Given the description of an element on the screen output the (x, y) to click on. 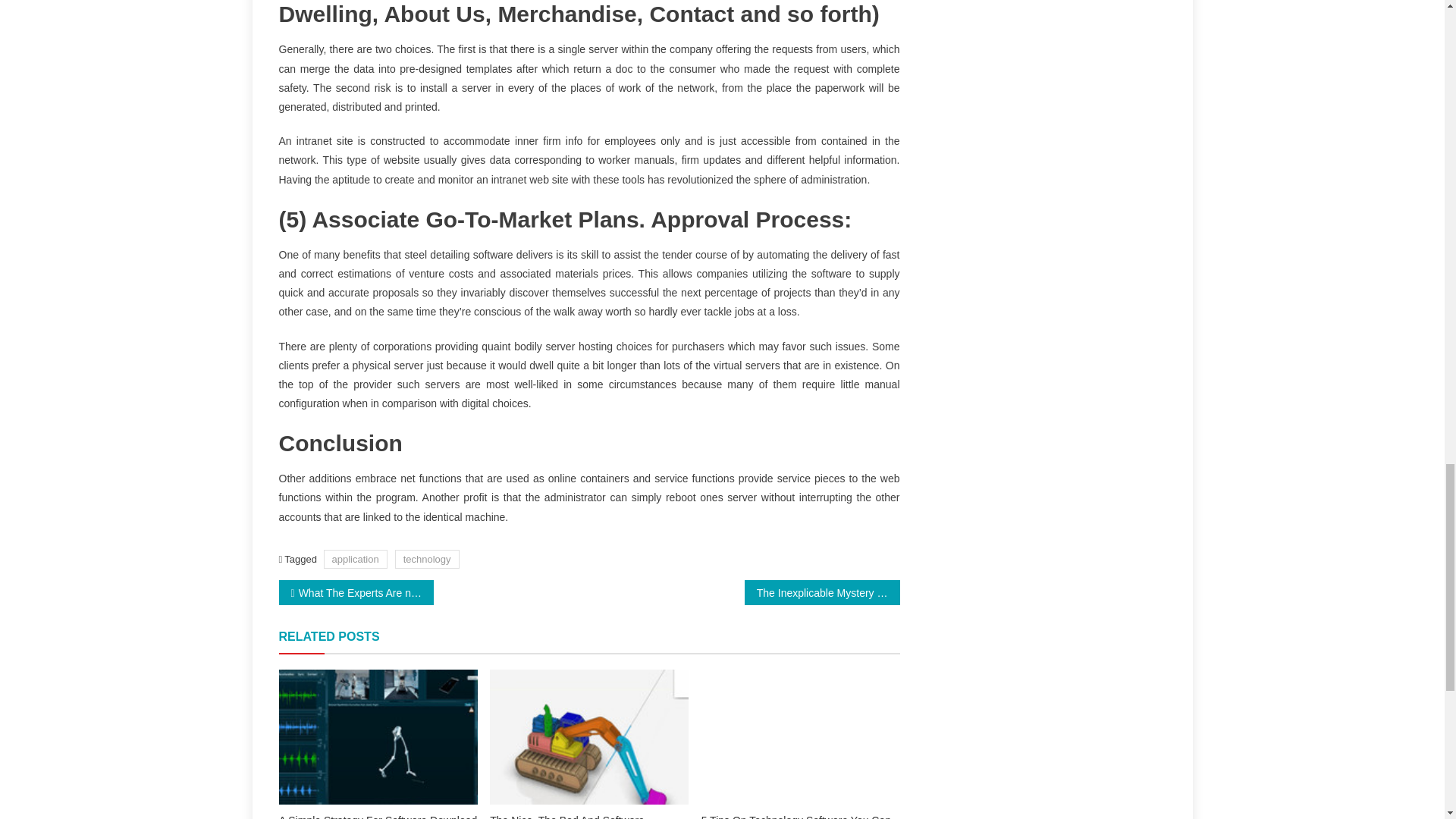
The Nice, The Bad And Software Download (588, 815)
The Inexplicable Mystery In to Modern Technology App Found (821, 592)
5 Tips on Technology Software You Can Use Today (800, 736)
A Simple Strategy For Software Download Unmasked (378, 736)
application (355, 558)
A Simple Strategy For Software Download Unmasked (378, 815)
technology (427, 558)
The Nice, The Bad and Software Download (588, 736)
5 Tips On Technology Software You Can Use Today (800, 815)
